Given the description of an element on the screen output the (x, y) to click on. 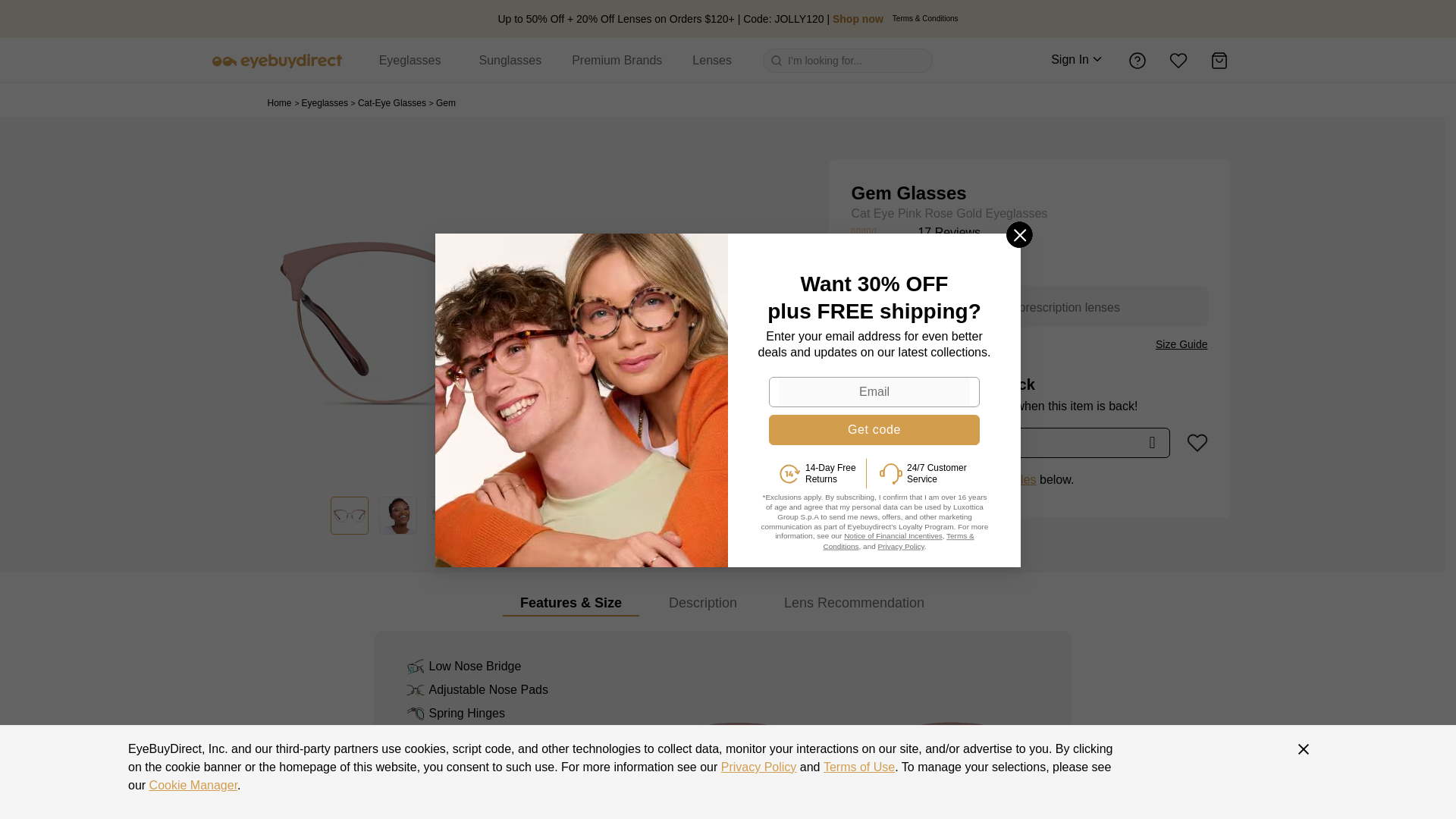
Shop now (857, 19)
